Given the description of an element on the screen output the (x, y) to click on. 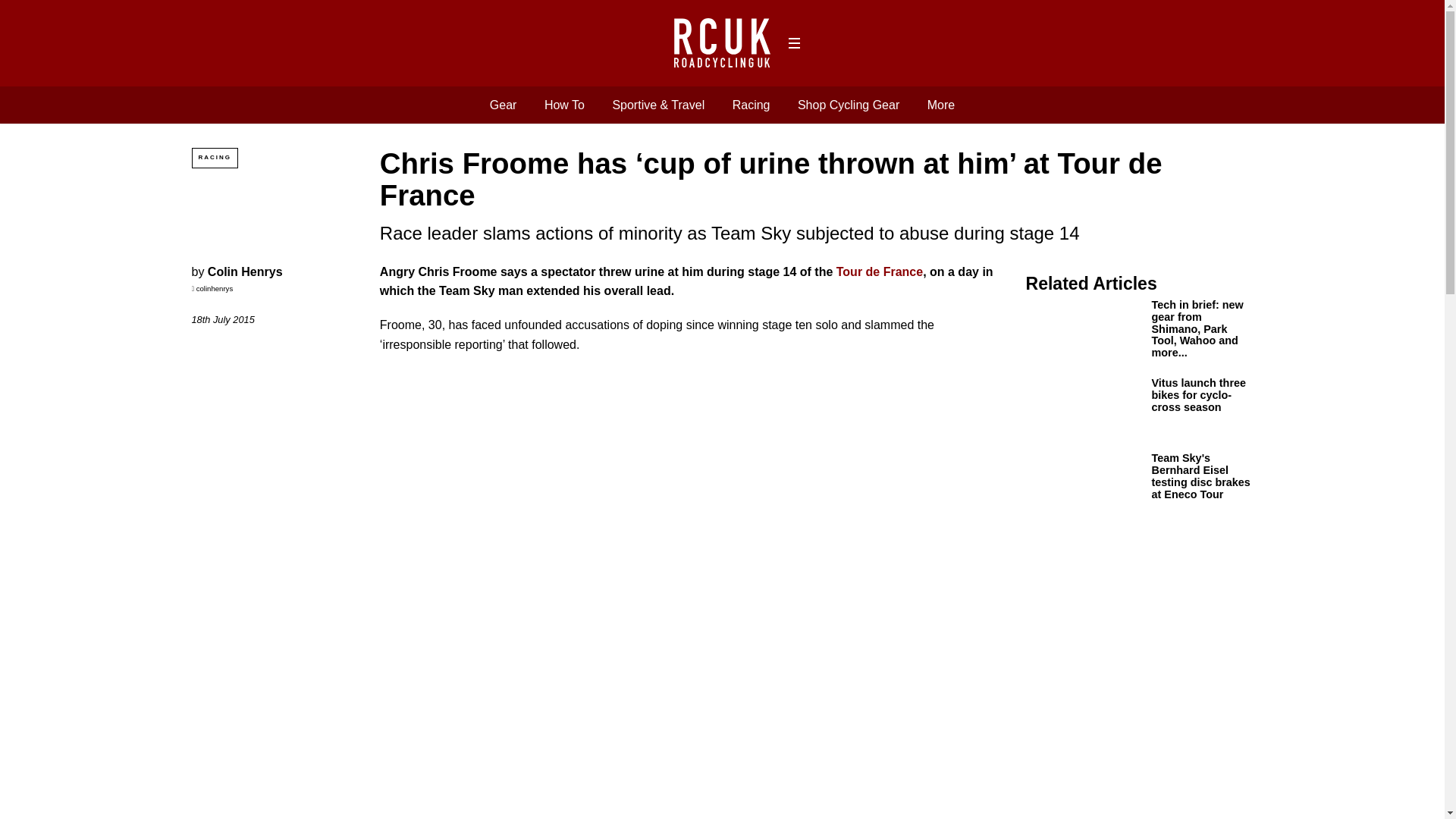
Racing (751, 104)
More (941, 104)
Menu (794, 42)
Shop Cycling Gear (848, 104)
Gear (502, 104)
How To (564, 104)
